Given the description of an element on the screen output the (x, y) to click on. 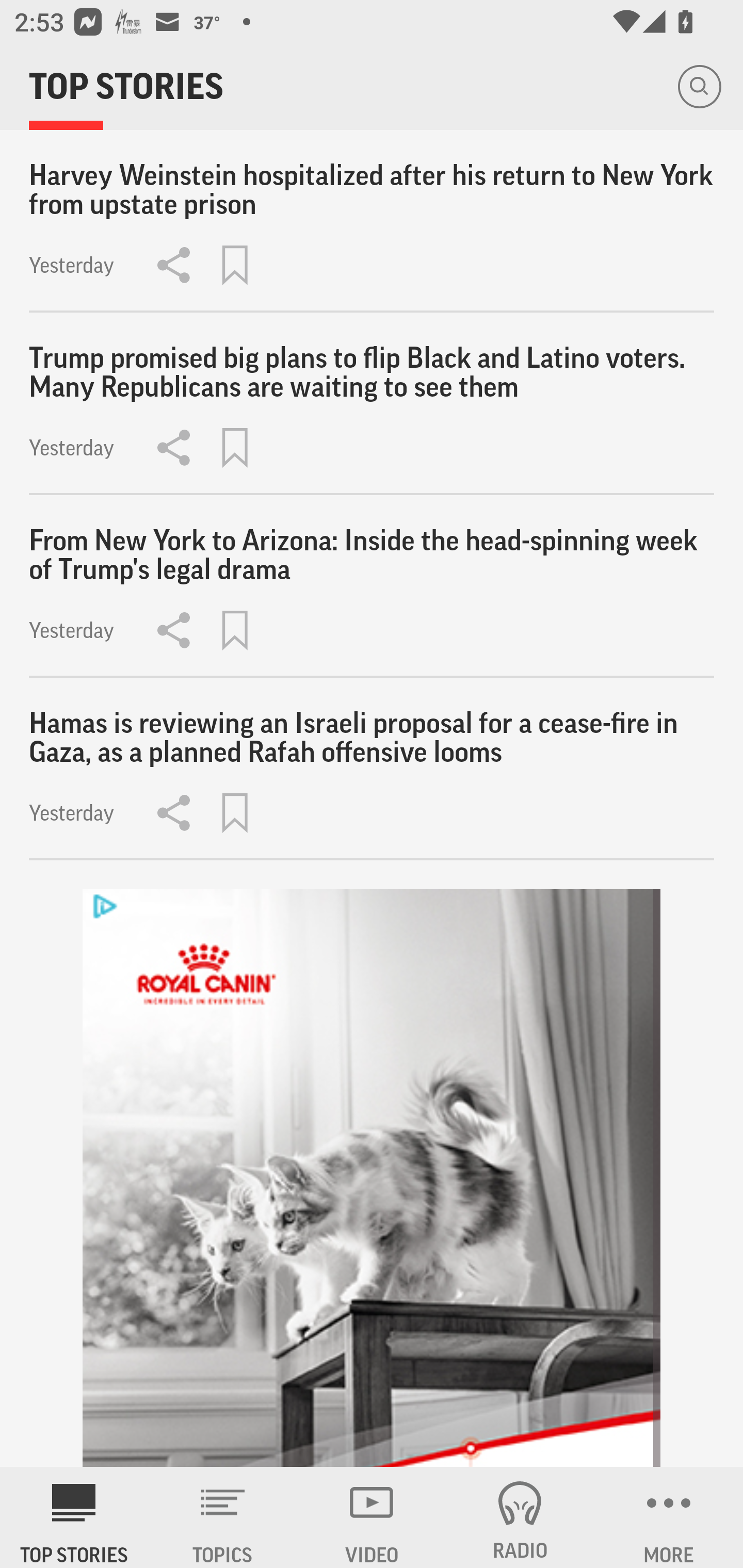
an4gwrwm_320x480 (371, 1178)
AP News TOP STORIES (74, 1517)
TOPICS (222, 1517)
VIDEO (371, 1517)
RADIO (519, 1517)
MORE (668, 1517)
